Given the description of an element on the screen output the (x, y) to click on. 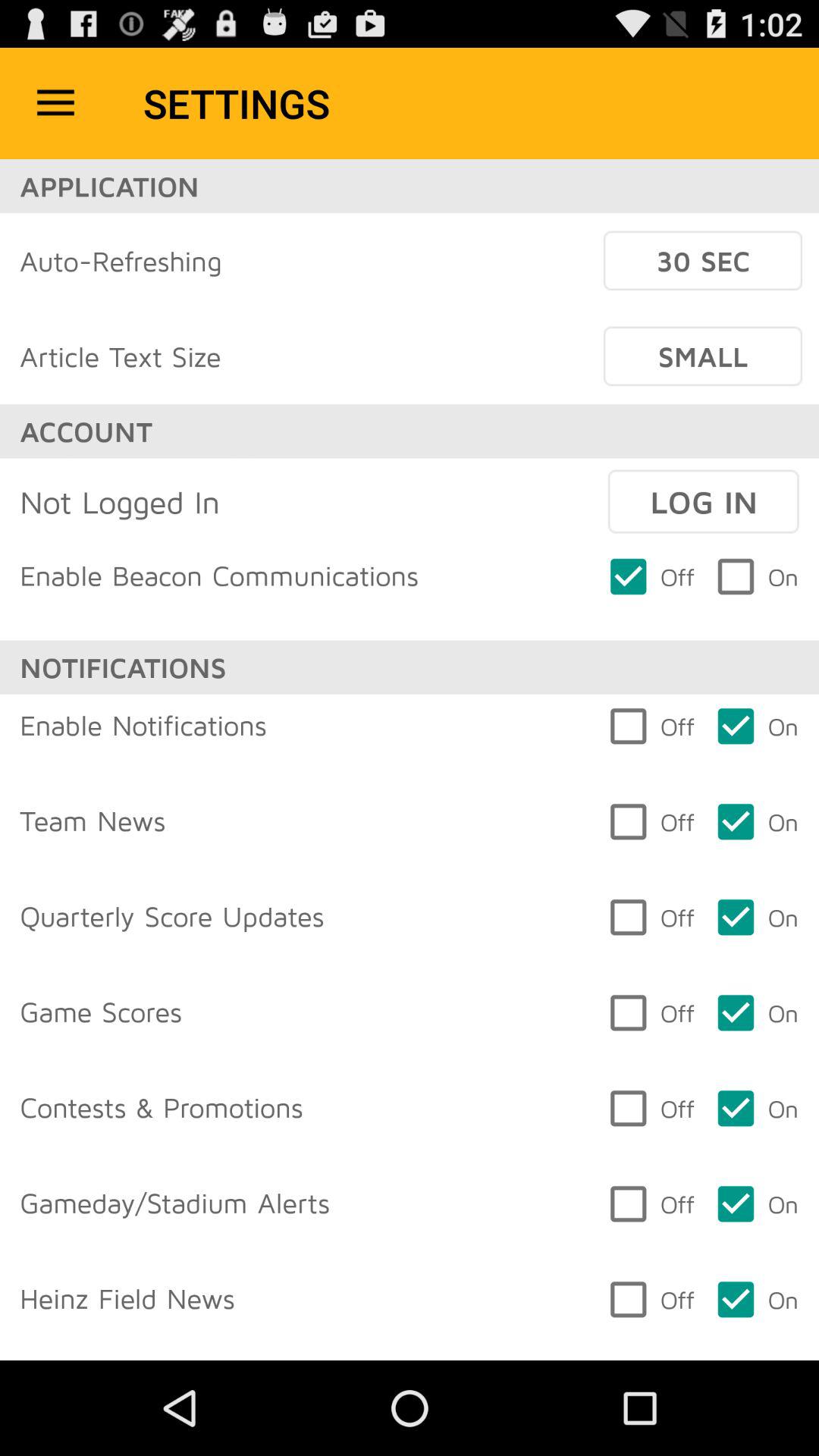
choose item above off icon (703, 501)
